Given the description of an element on the screen output the (x, y) to click on. 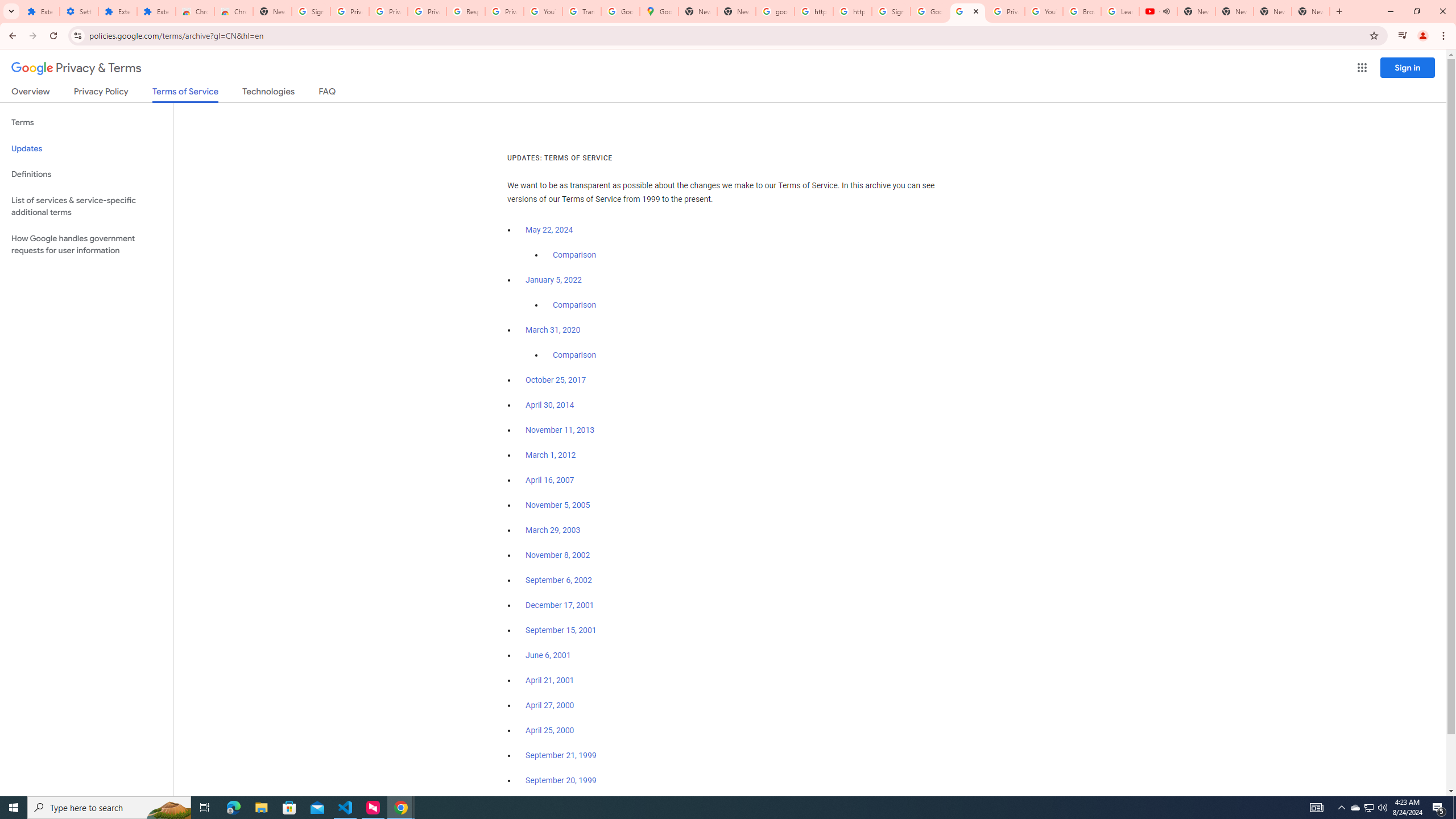
Settings (79, 11)
September 6, 2002 (558, 579)
January 5, 2022 (553, 280)
Sign in - Google Accounts (890, 11)
November 11, 2013 (560, 430)
Chrome Web Store (194, 11)
New Tab (1311, 11)
April 25, 2000 (550, 729)
